Given the description of an element on the screen output the (x, y) to click on. 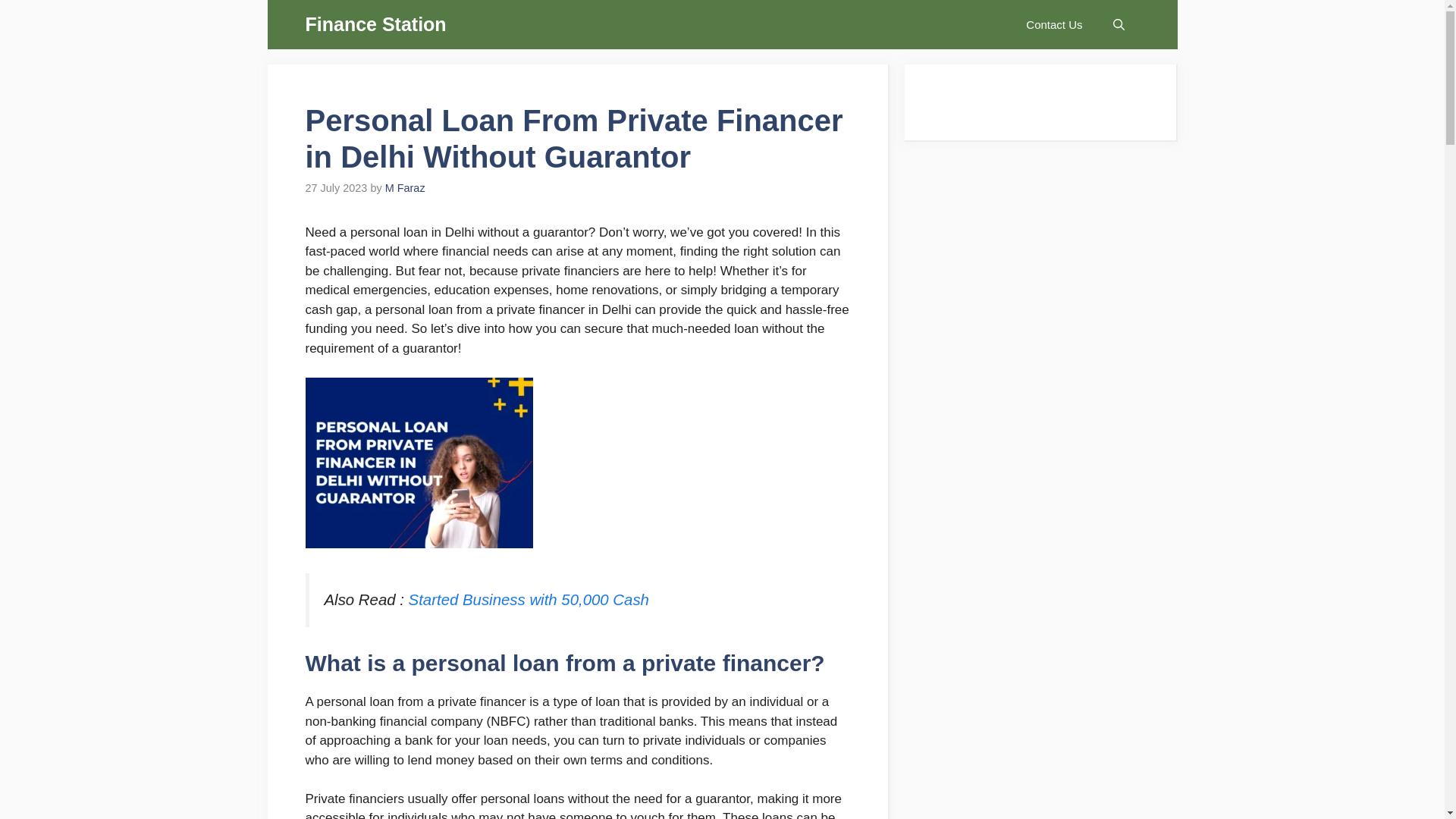
Started Business with 50,000 Cash (529, 599)
Contact Us (1053, 24)
Finance Station (374, 24)
View all posts by M Faraz (405, 187)
M Faraz (405, 187)
